Given the description of an element on the screen output the (x, y) to click on. 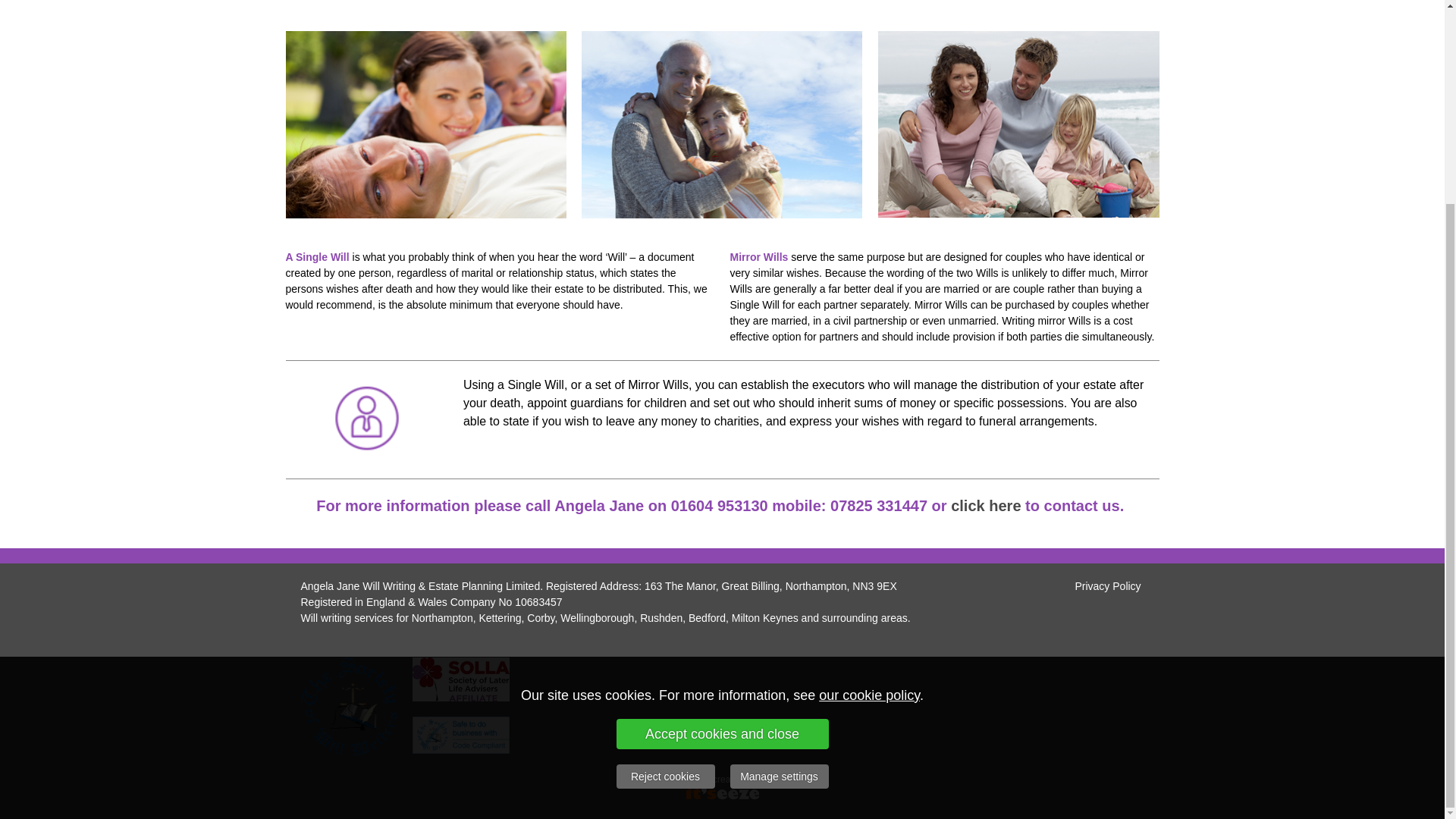
our cookie policy (869, 433)
Manage settings (778, 515)
click here (985, 507)
it'seeze (774, 778)
Privacy Policy (1107, 585)
